Given the description of an element on the screen output the (x, y) to click on. 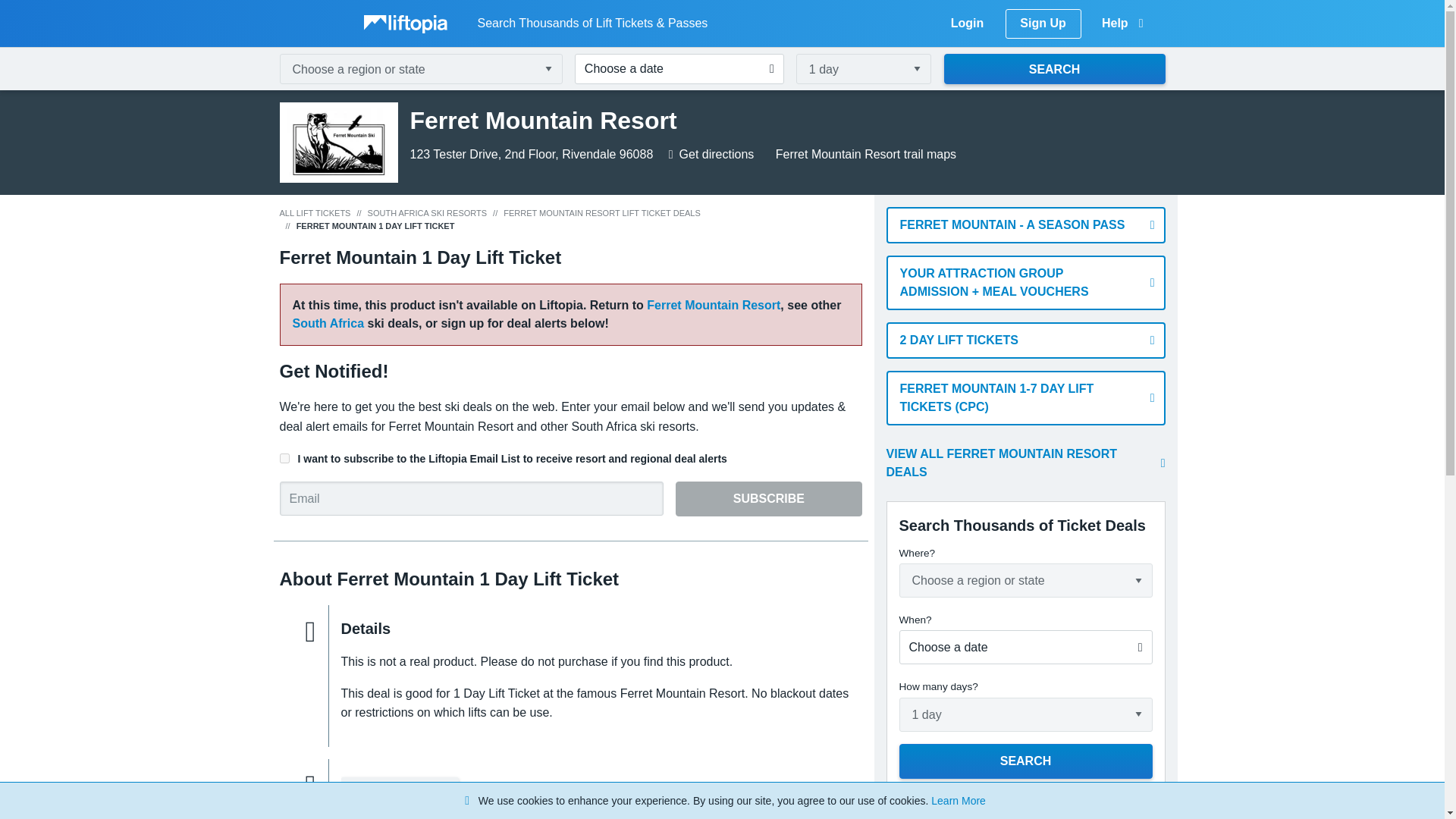
Ferret Mountain Resort trail maps (863, 154)
Liftopia (408, 23)
Ferret Mountain Resort (713, 305)
SEARCH (1053, 69)
FERRET MOUNTAIN - A SEASON PASS (1026, 225)
Get directions (711, 154)
SOUTH AFRICA SKI RESORTS (427, 212)
SEARCH (1026, 760)
VIEW ALL FERRET MOUNTAIN RESORT DEALS (1026, 462)
Login (968, 23)
